Given the description of an element on the screen output the (x, y) to click on. 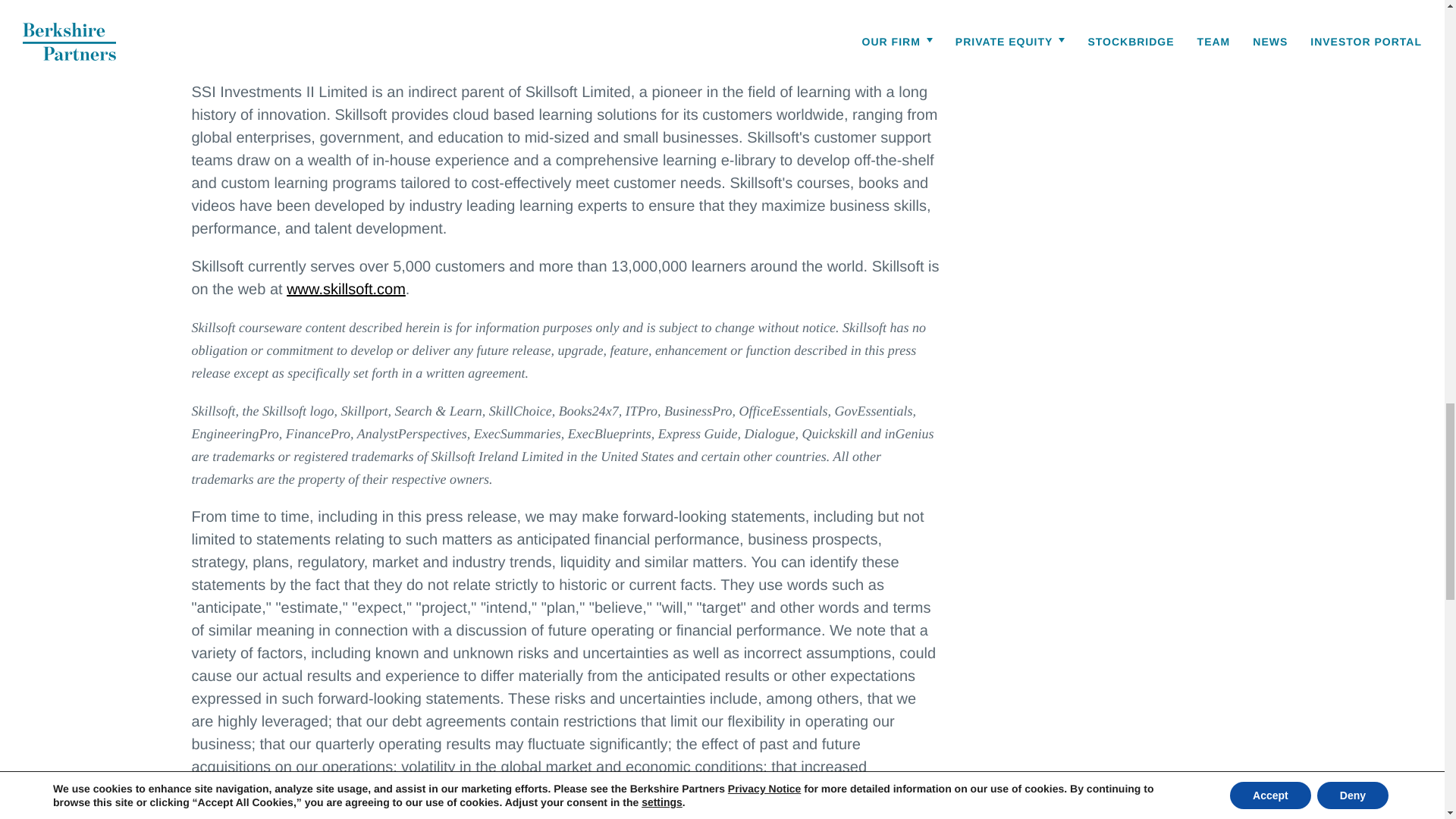
www.skillsoft.com (346, 289)
